Given the description of an element on the screen output the (x, y) to click on. 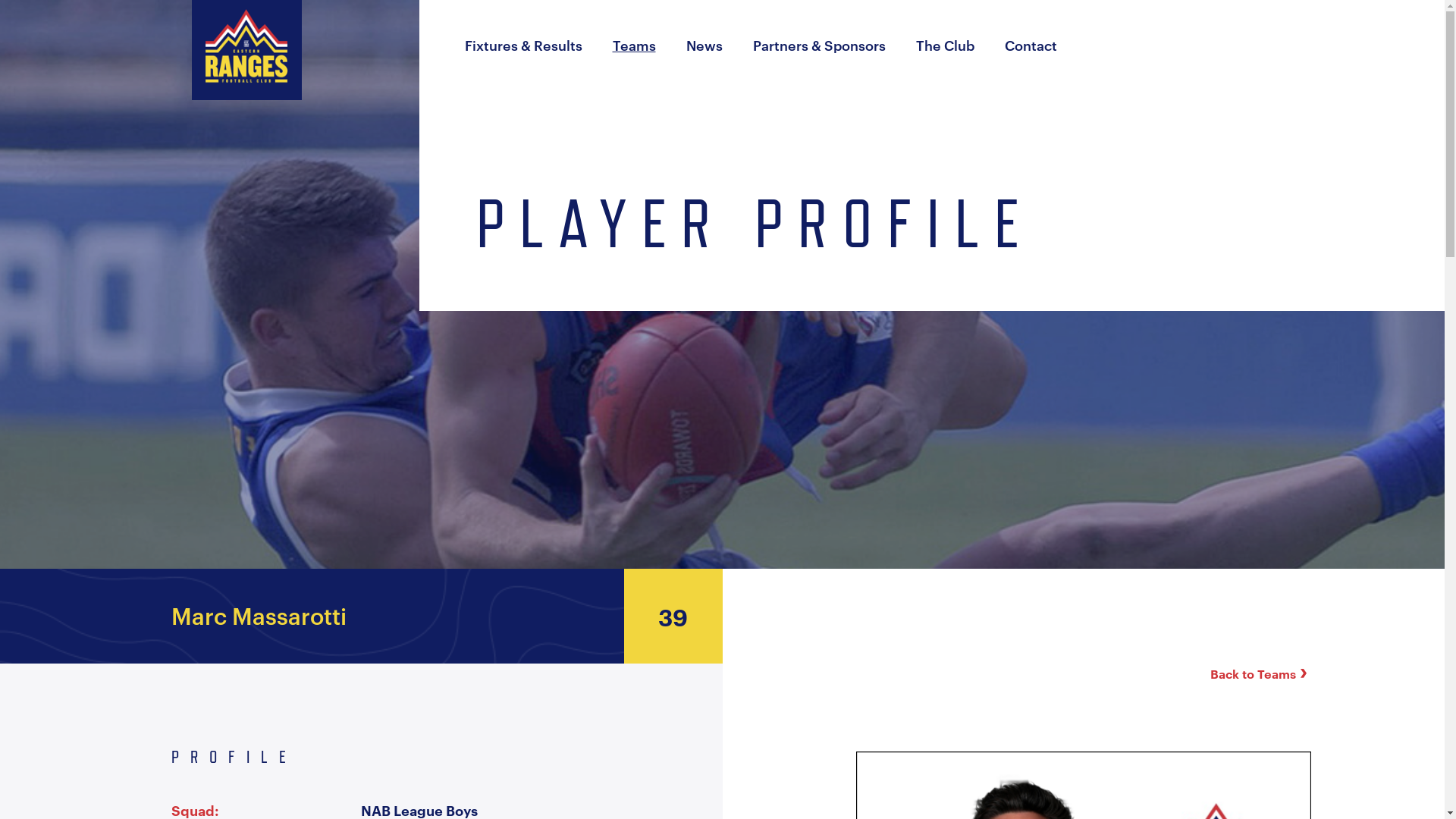
Partners & Sponsors Element type: text (818, 44)
Fixtures & Results Element type: text (522, 44)
Contact Element type: text (1029, 44)
Back to Teams Element type: text (1260, 673)
News Element type: text (703, 44)
Teams Element type: text (634, 44)
The Club Element type: text (944, 44)
